Given the description of an element on the screen output the (x, y) to click on. 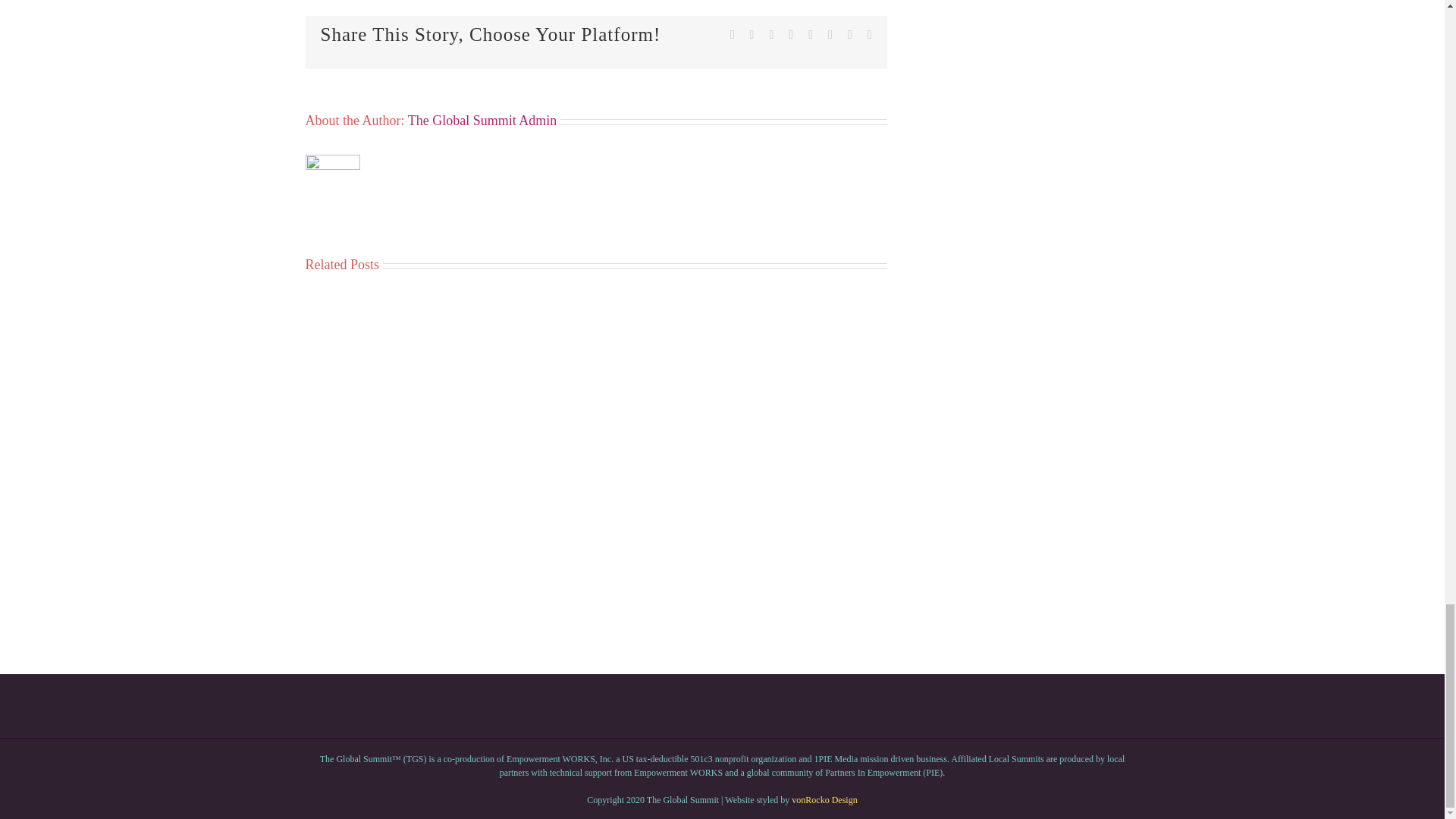
Posts by The Global Summit Admin (482, 120)
